Given the description of an element on the screen output the (x, y) to click on. 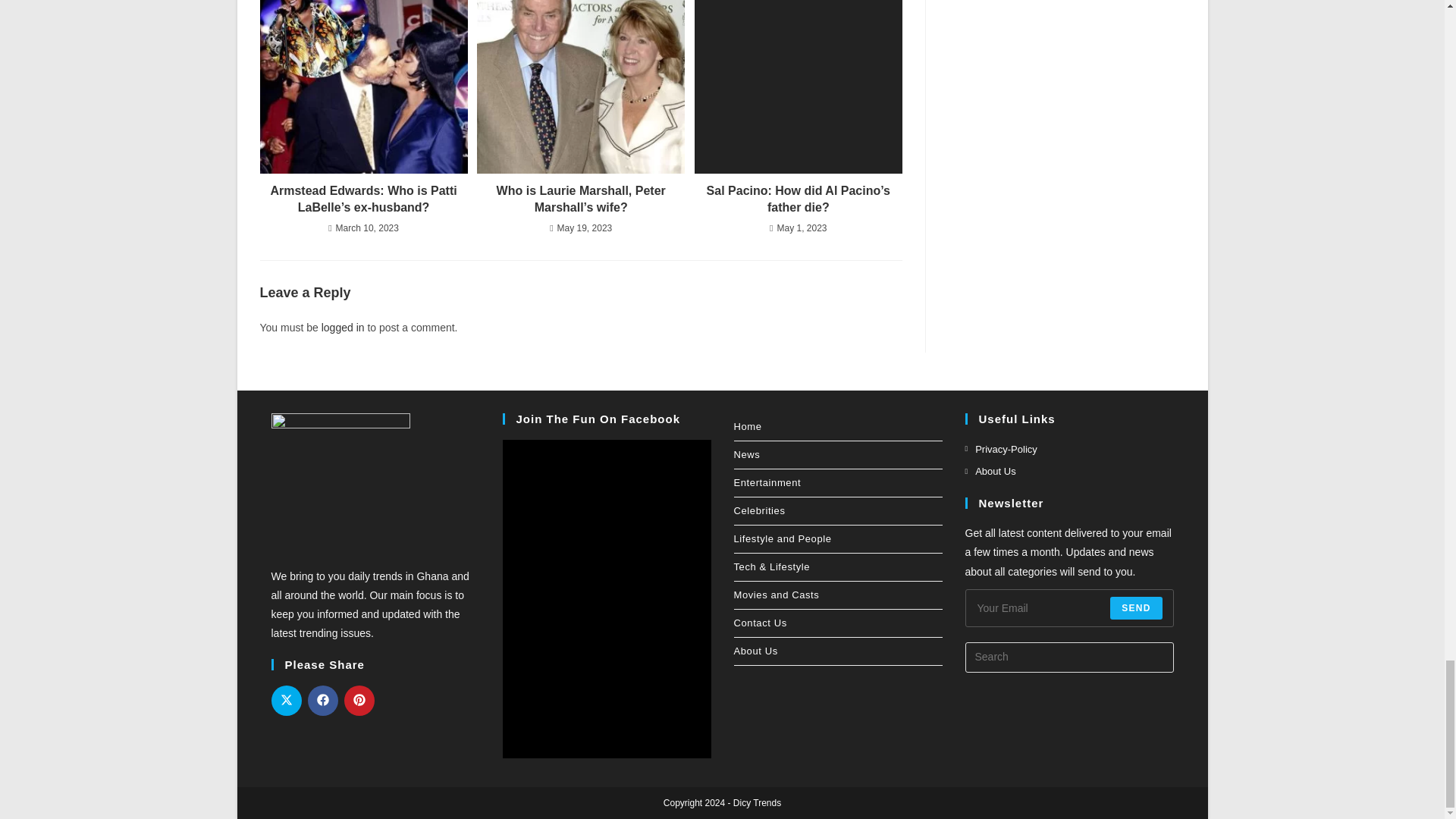
Share on Pinterest (358, 700)
Share on Facebook (322, 700)
Share on X (285, 700)
